Given the description of an element on the screen output the (x, y) to click on. 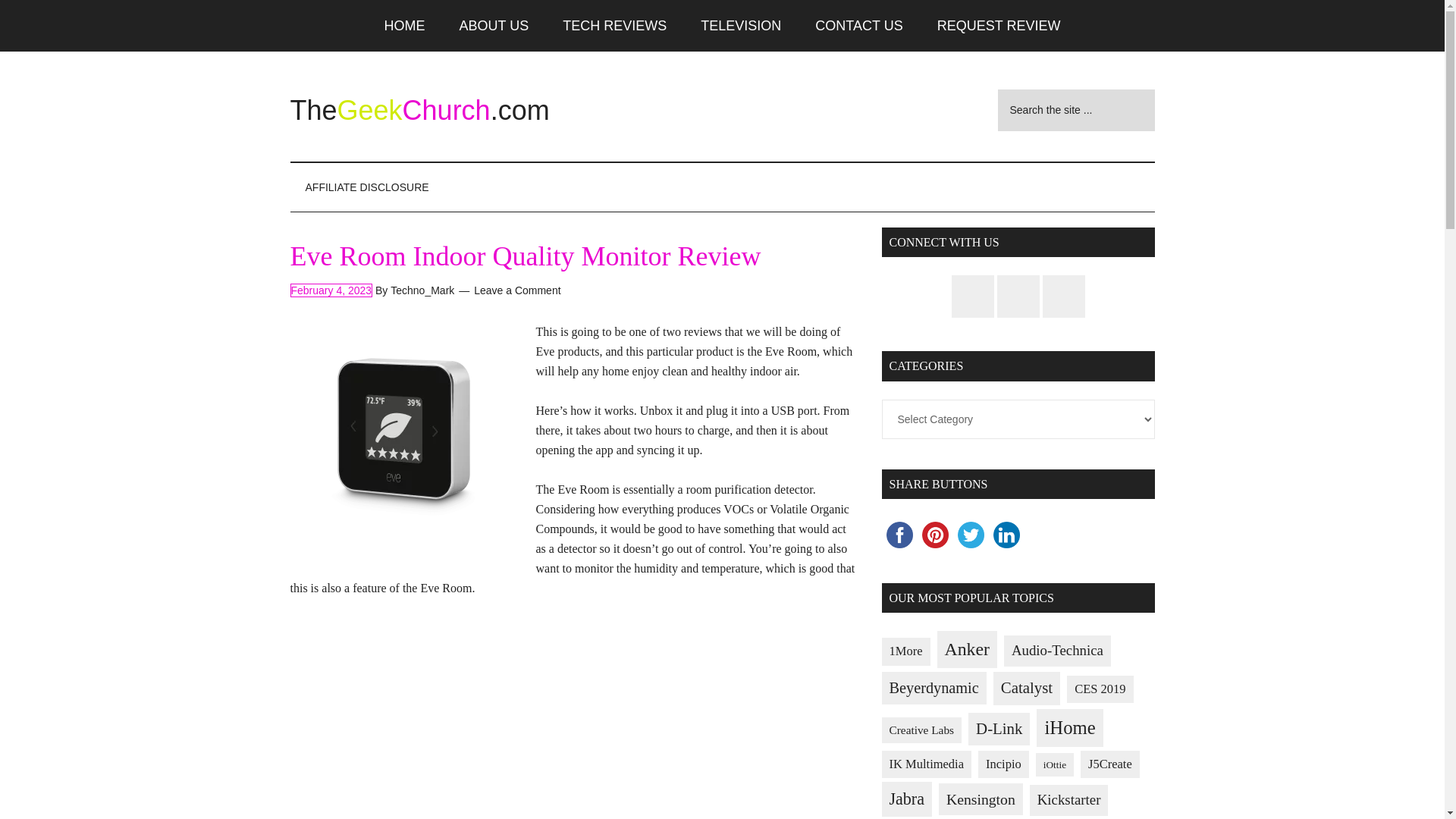
pinterest (935, 534)
REQUEST REVIEW (998, 25)
TheGeekChurch.com (418, 110)
CONTACT US (858, 25)
twitter (970, 534)
Leave a Comment (517, 290)
ABOUT US (494, 25)
linkedin (1006, 534)
1More (905, 651)
TELEVISION (740, 25)
facebook (898, 534)
AFFILIATE DISCLOSURE (366, 186)
